Given the description of an element on the screen output the (x, y) to click on. 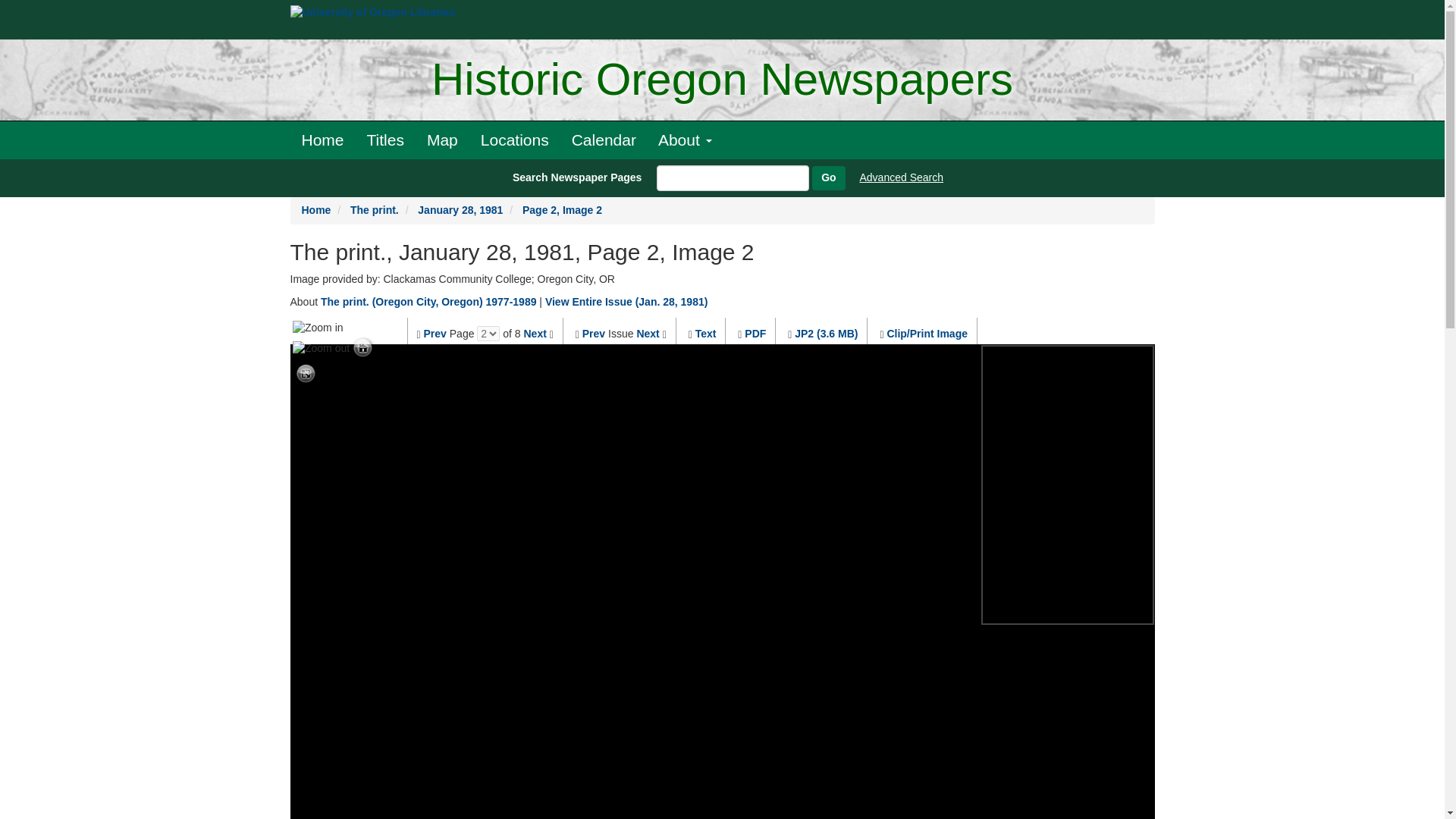
Zoom in (317, 327)
Home (322, 139)
The print. (374, 209)
Page 2, Image 2 (562, 209)
Next (647, 333)
Home (316, 209)
Prev (434, 333)
Prev (593, 333)
Zoom out (320, 347)
Map (441, 139)
